Given the description of an element on the screen output the (x, y) to click on. 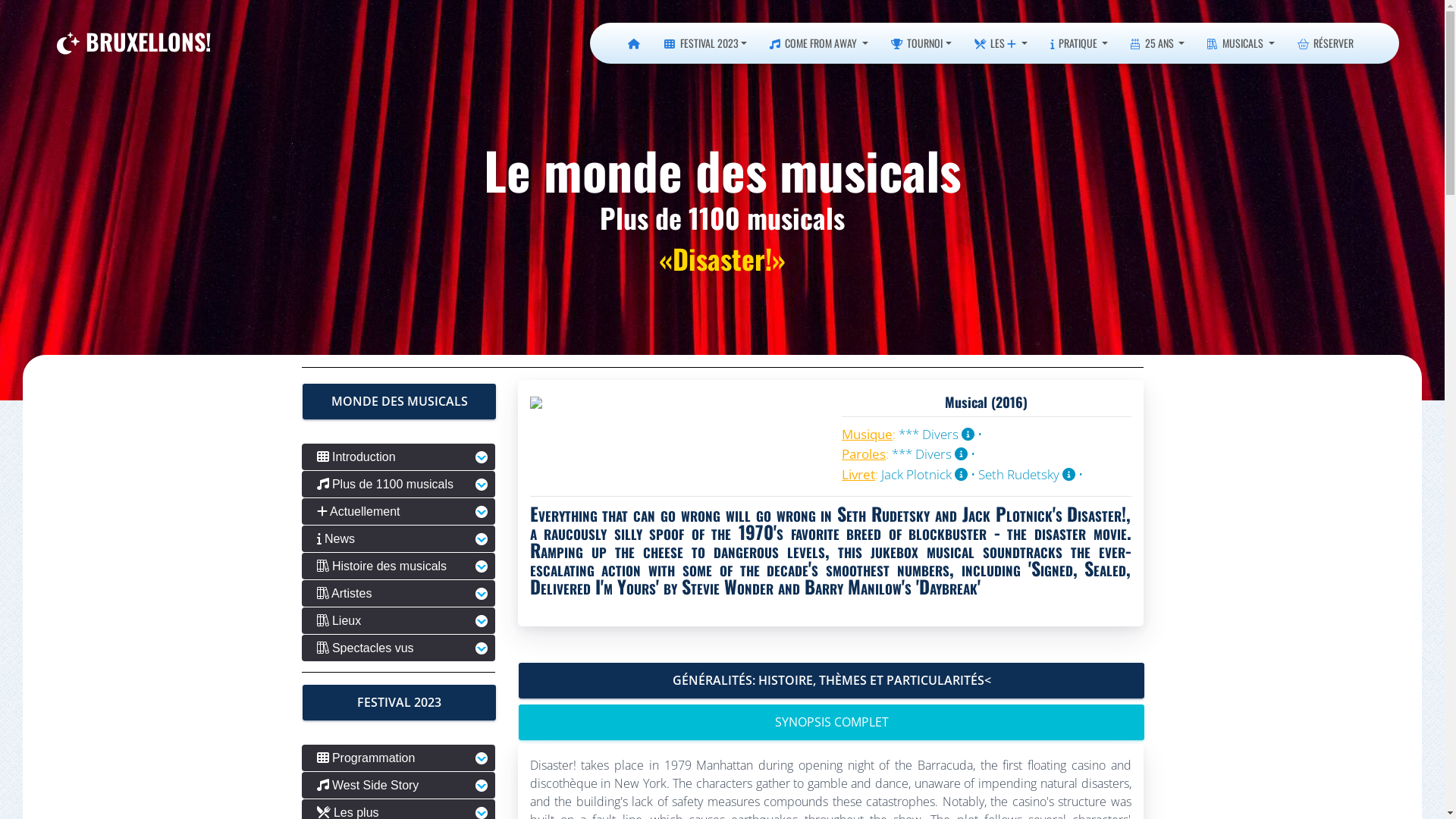
Lieux Element type: text (398, 620)
West Side Story Element type: text (398, 784)
Actuellement Element type: text (398, 511)
Programmation Element type: text (398, 757)
Introduction Element type: text (398, 456)
Artistes Element type: text (398, 593)
TOURNOI Element type: text (921, 42)
Plus de 1100 musicals Element type: text (398, 483)
BRUXELLONS! Element type: text (133, 42)
SYNOPSIS COMPLET Element type: text (831, 722)
FESTIVAL 2023 Element type: text (398, 702)
FESTIVAL 2023 Element type: text (705, 42)
Histoire des musicals Element type: text (398, 565)
LES Element type: text (1000, 42)
PRATIQUE Element type: text (1079, 42)
MUSICALS Element type: text (1240, 42)
COME FROM AWAY Element type: text (818, 42)
MONDE DES MUSICALS Element type: text (398, 401)
Spectacles vus Element type: text (398, 647)
25 ANS Element type: text (1157, 42)
News Element type: text (398, 538)
